Given the description of an element on the screen output the (x, y) to click on. 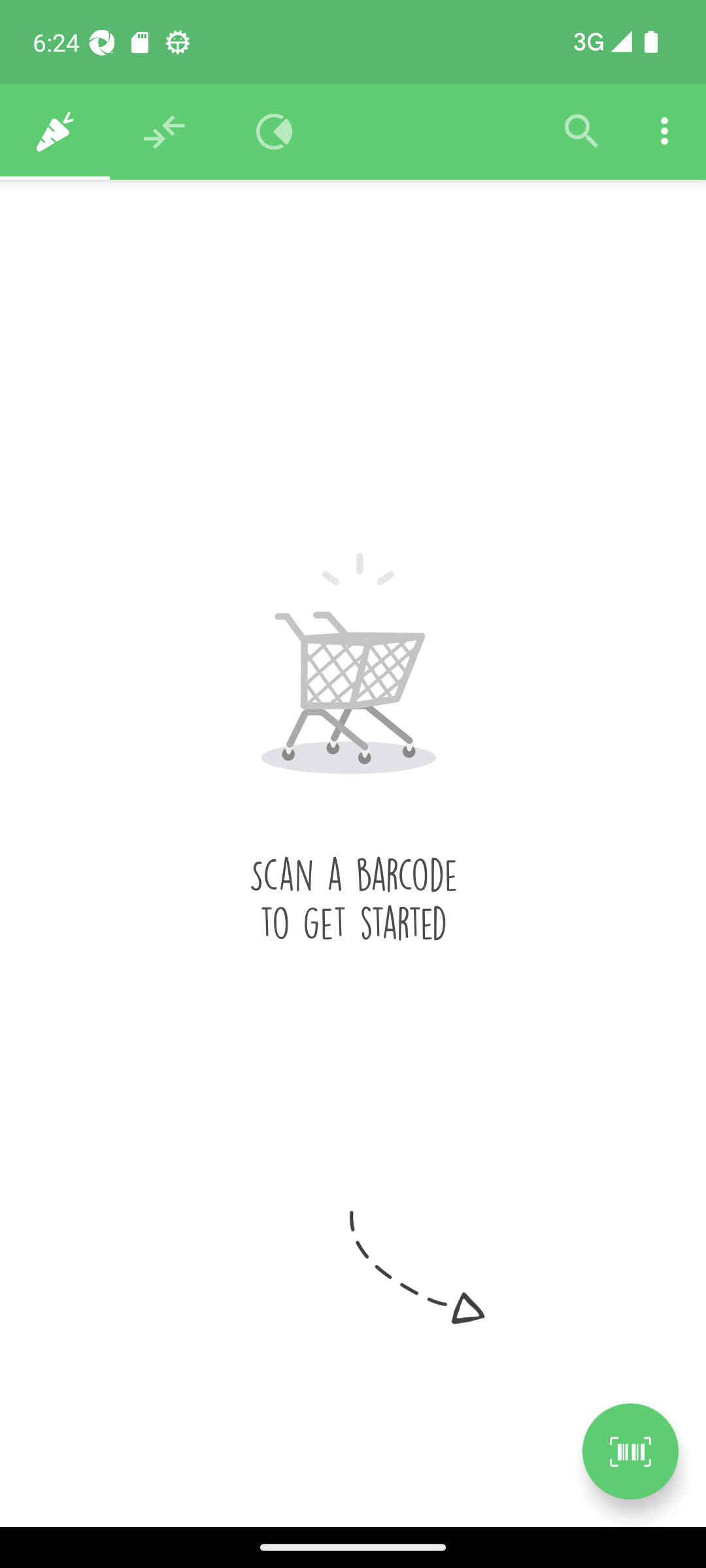
Recommendations (164, 131)
Overview (274, 131)
Filter (581, 131)
Settings (664, 131)
Scan a product (630, 1451)
